Given the description of an element on the screen output the (x, y) to click on. 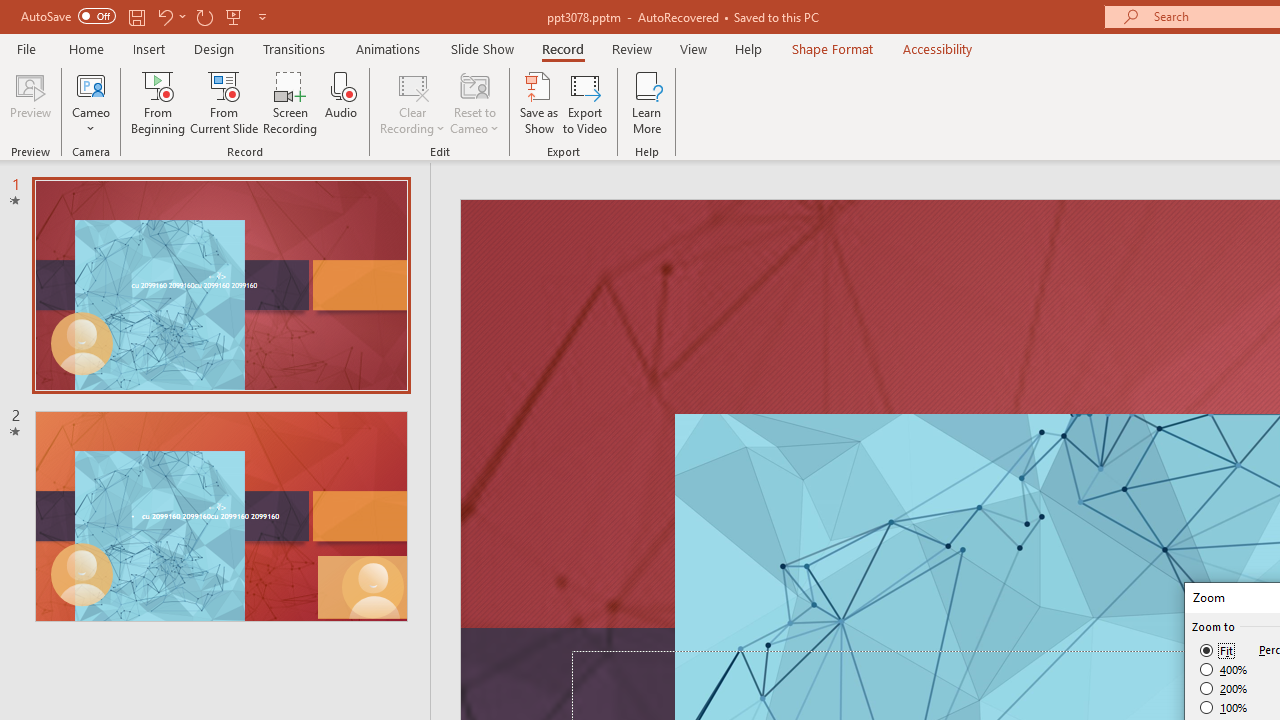
100% (1224, 707)
Audio (341, 102)
400% (1224, 669)
Clear Recording (412, 102)
Shape Format (832, 48)
